Given the description of an element on the screen output the (x, y) to click on. 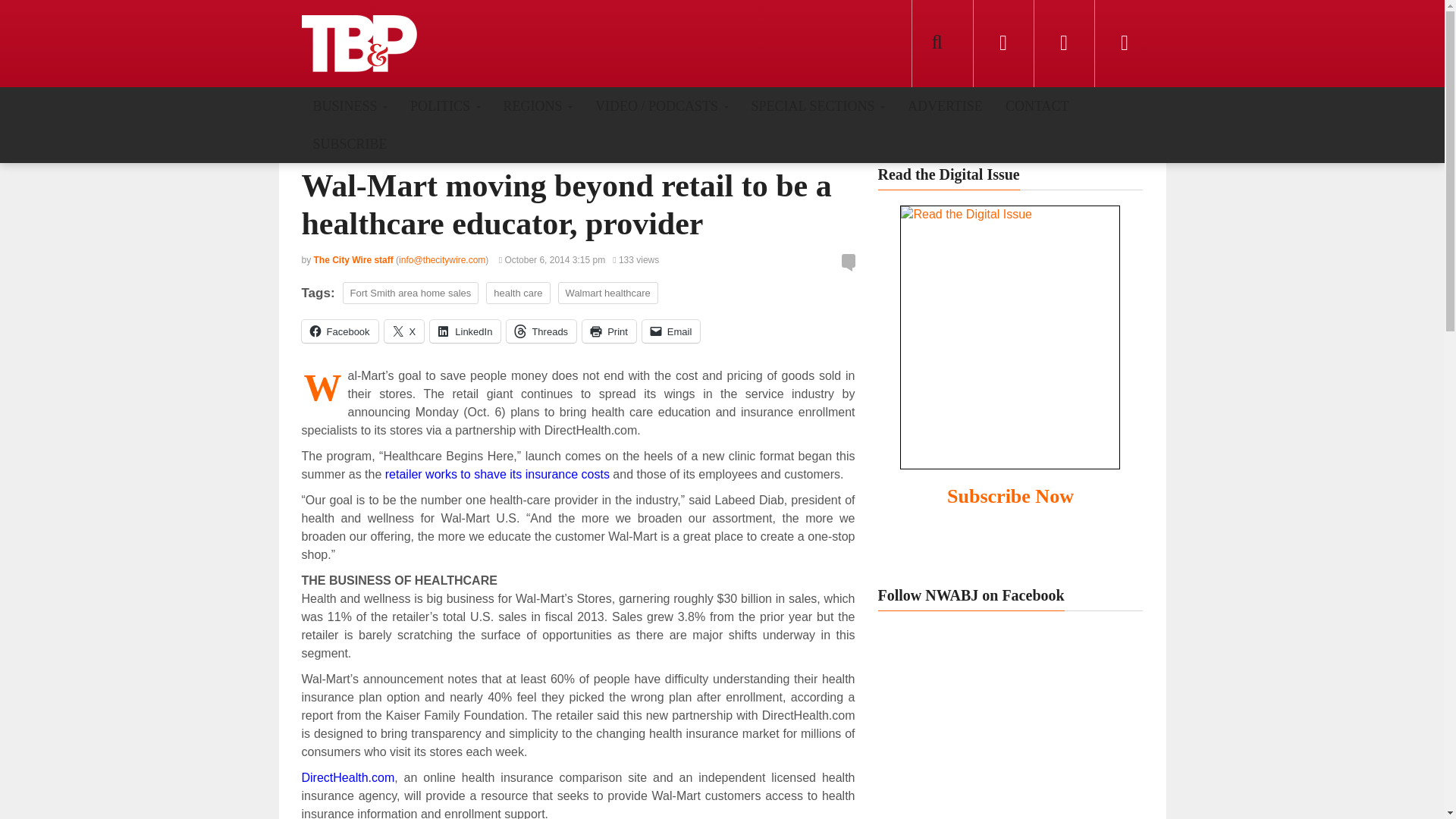
Click to share on Facebook (339, 331)
POLITICS (445, 105)
Click to email a link to a friend (671, 331)
BUSINESS (349, 105)
Click to share on LinkedIn (464, 331)
Click to share on X (404, 331)
Click to print (609, 331)
Click to share on Threads (541, 331)
